Given the description of an element on the screen output the (x, y) to click on. 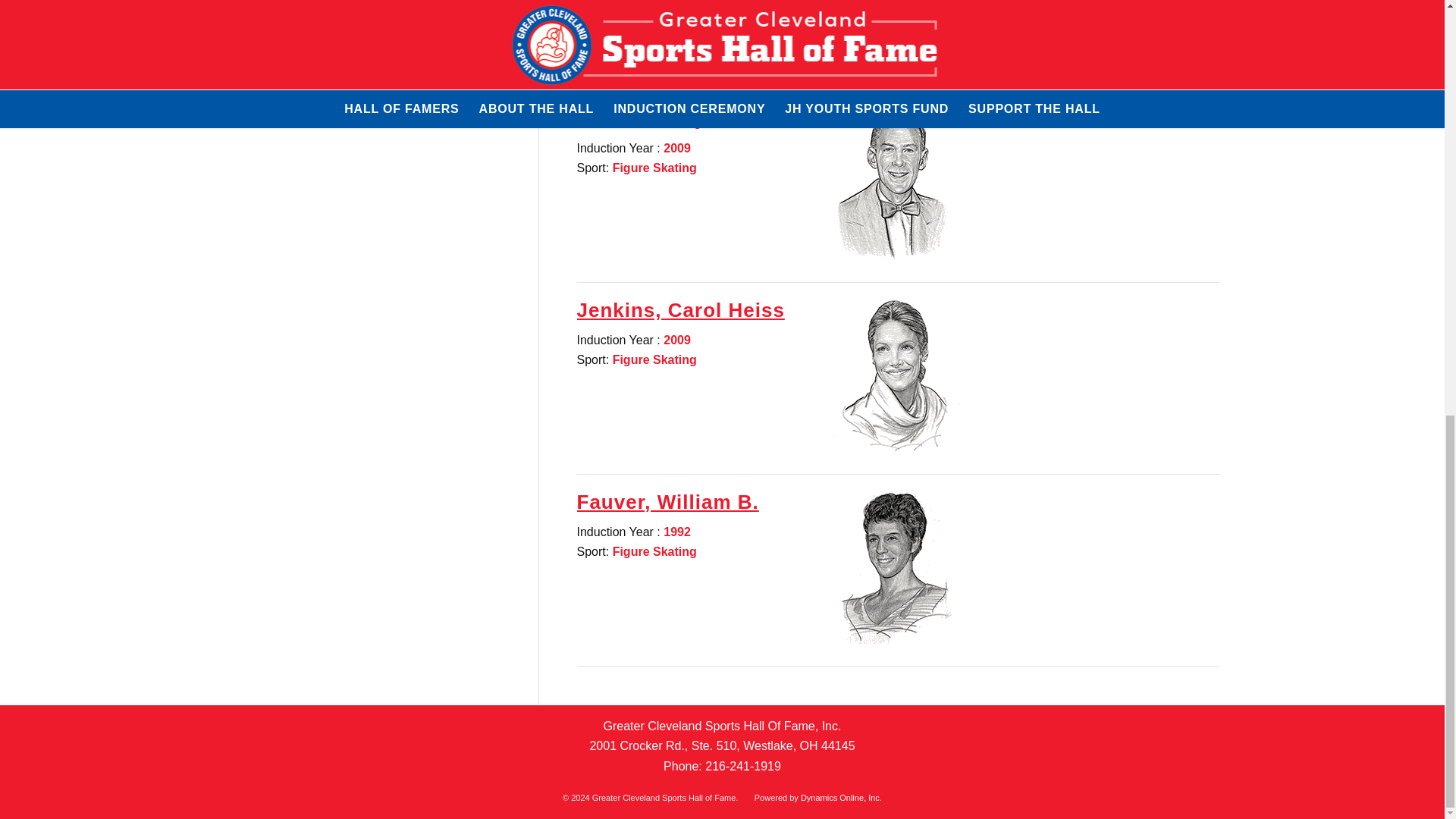
Permanent Link: Jenkins, Carol Heiss (680, 309)
Permanent Link: Fauver, William B. (667, 501)
Permanent Link: Jenkins, Hayes Alan (678, 118)
